Given the description of an element on the screen output the (x, y) to click on. 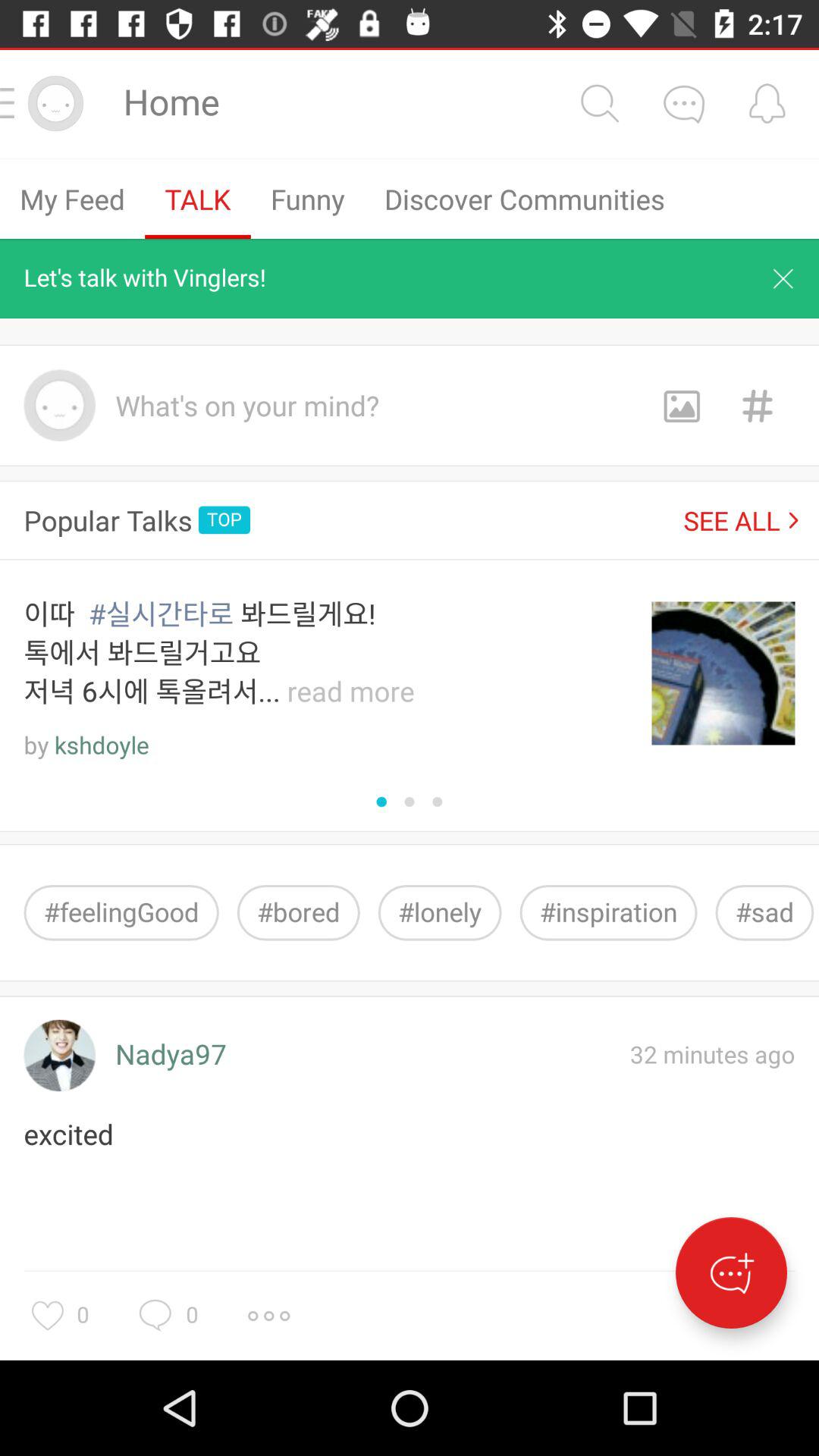
swipe to #feelinggood icon (120, 912)
